Given the description of an element on the screen output the (x, y) to click on. 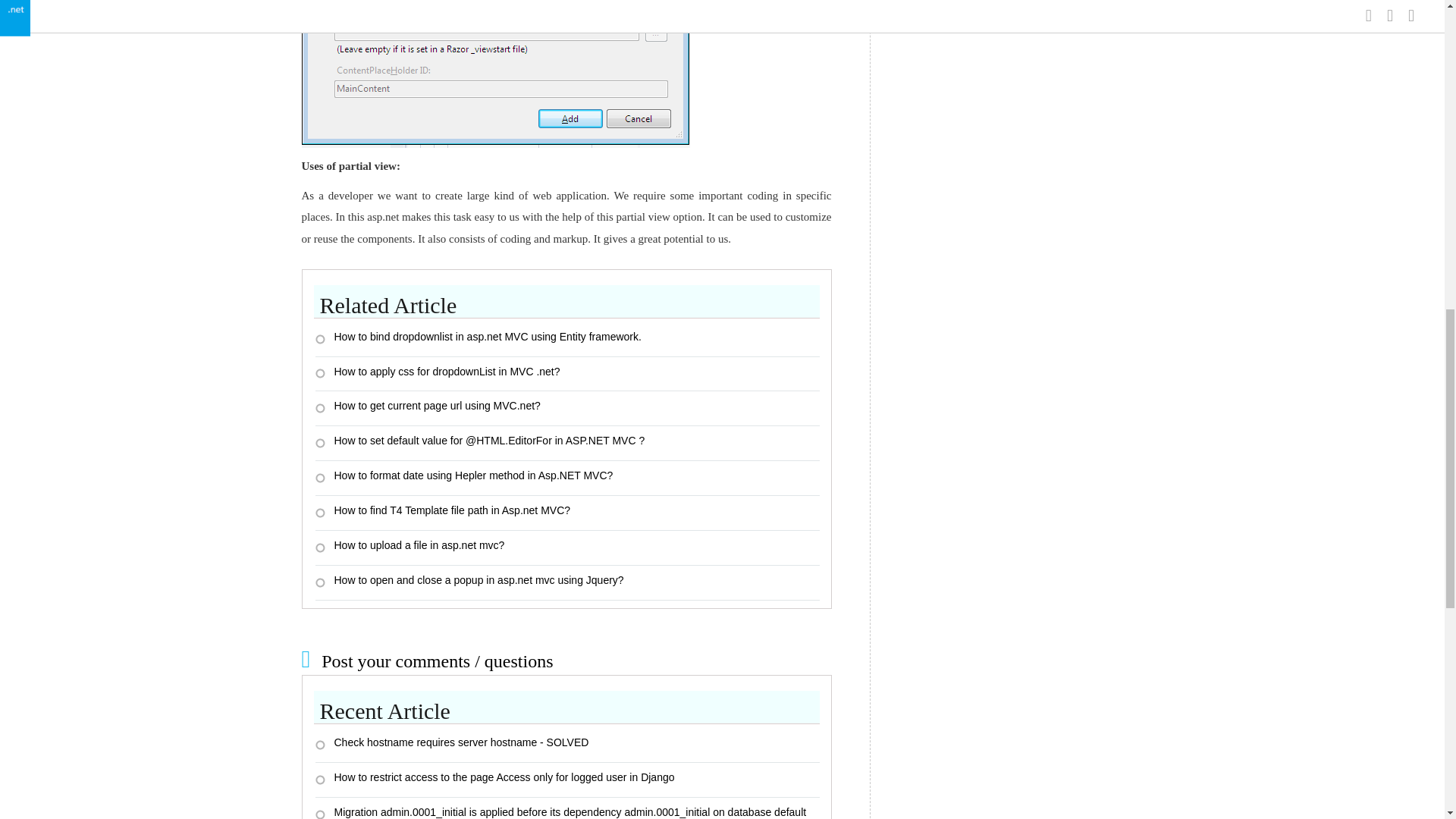
How to find T4 Template file path in Asp.net MVC? (567, 513)
Check hostname requires server hostname - SOLVED (567, 745)
How to apply css for dropdownList in MVC .net? (567, 373)
How to open and close a popup in asp.net mvc using Jquery? (567, 582)
How to get current page url using MVC.net? (567, 408)
How to format date using Hepler method in Asp.NET MVC? (567, 478)
How to upload a file in asp.net mvc? (567, 547)
